Given the description of an element on the screen output the (x, y) to click on. 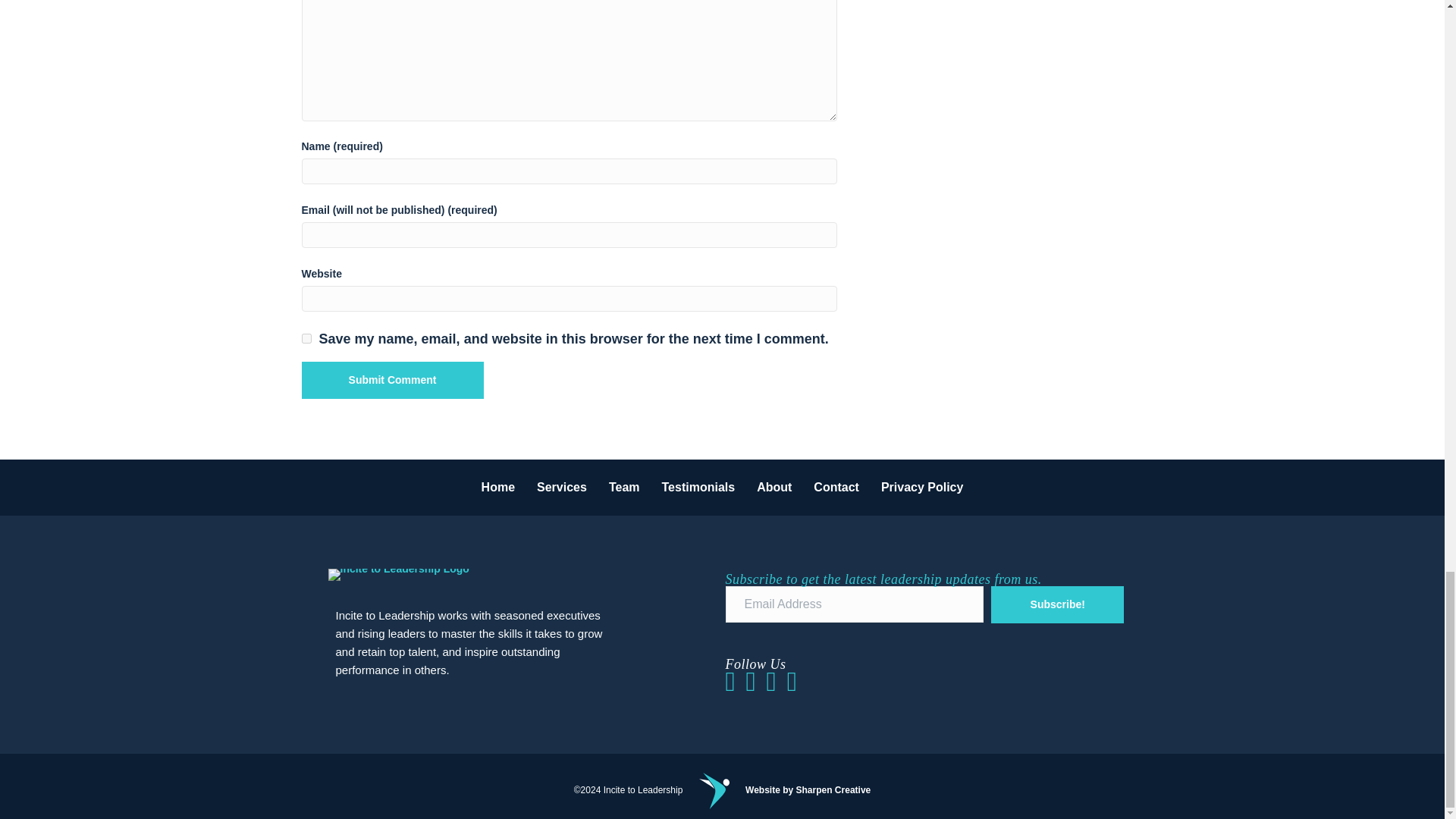
yes (306, 338)
Submit Comment (392, 379)
Submit Comment (392, 379)
incite-to-leadership-logo-ko (397, 574)
